Given the description of an element on the screen output the (x, y) to click on. 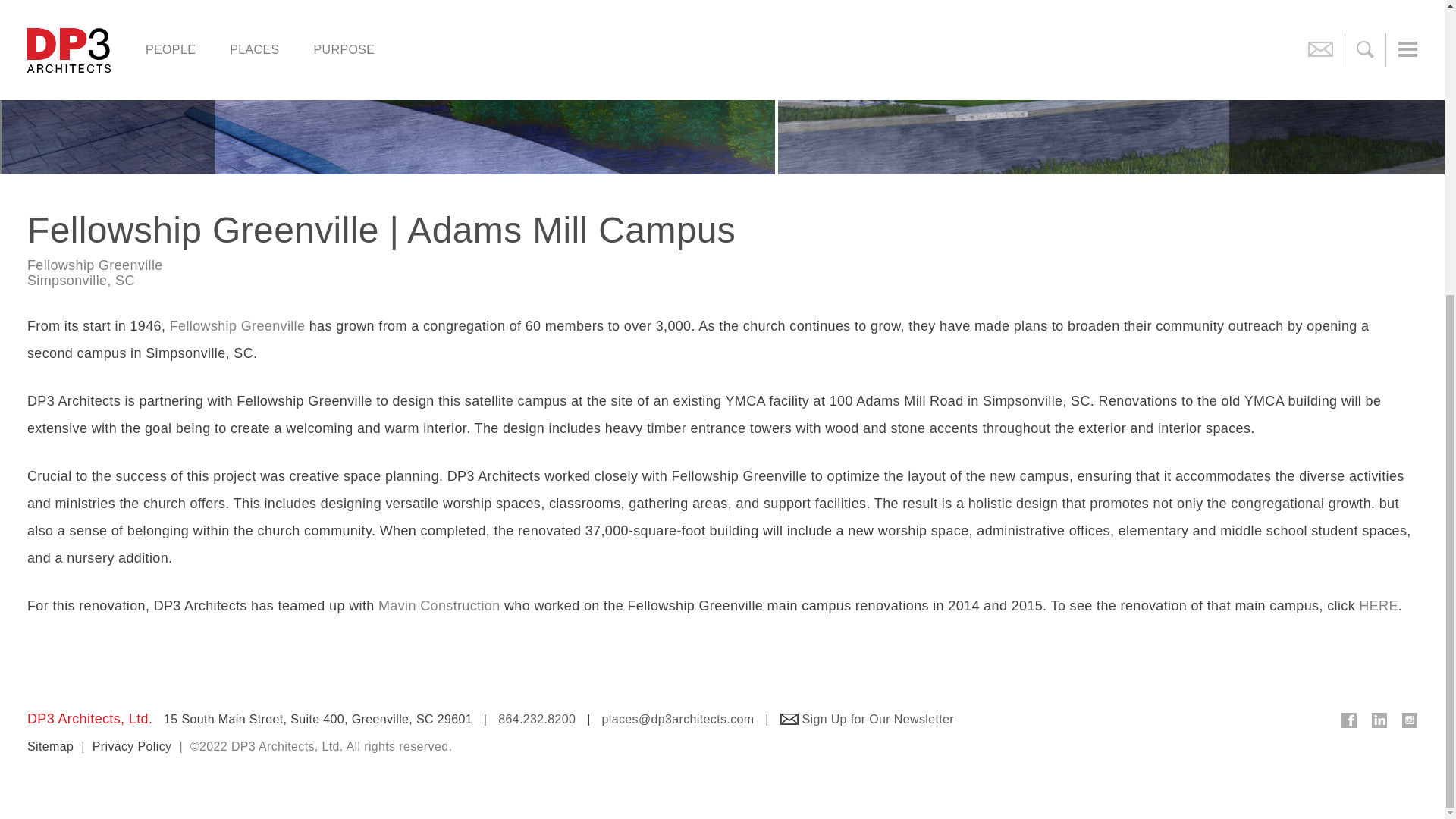
Prev (107, 87)
